Given the description of an element on the screen output the (x, y) to click on. 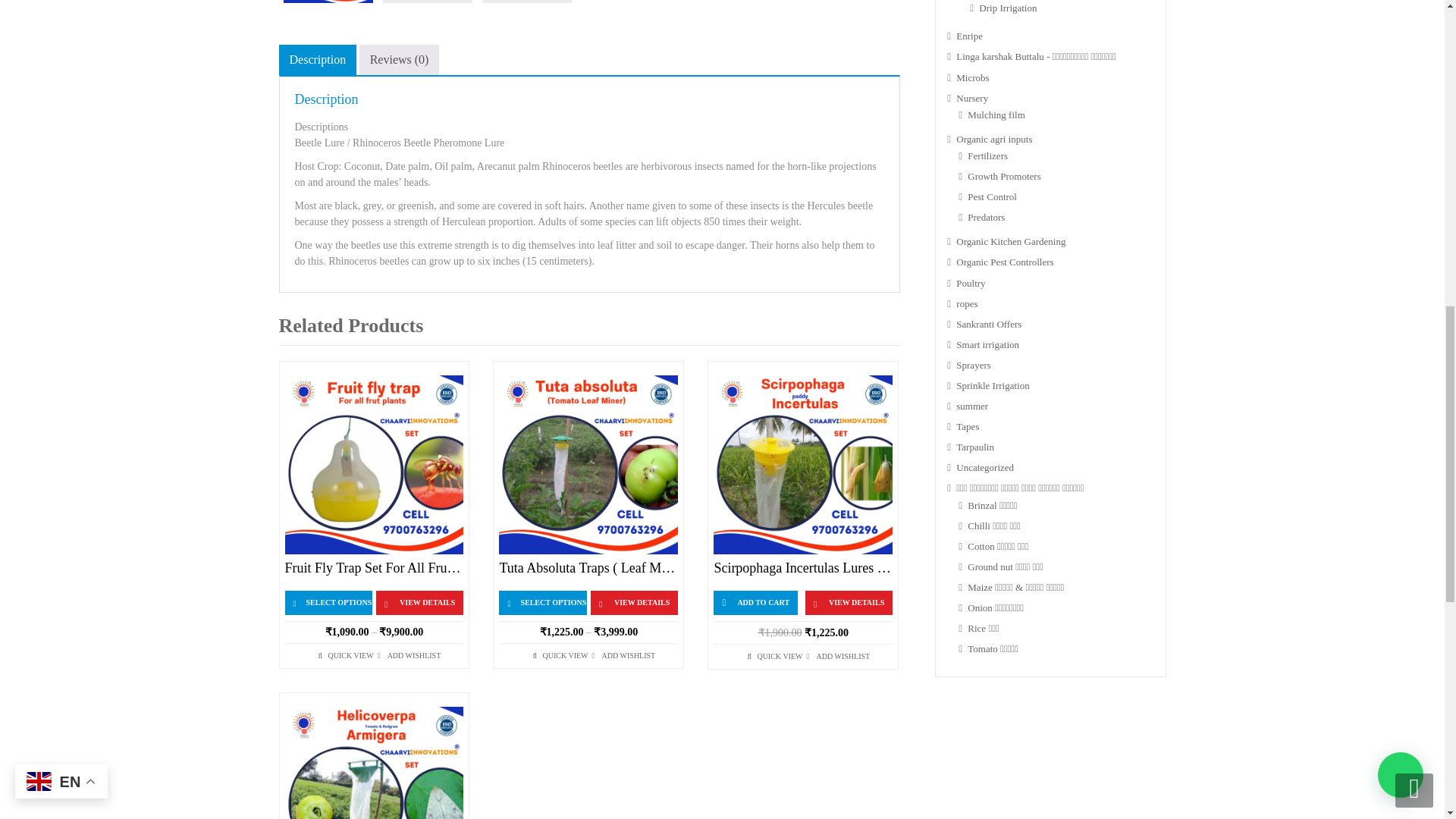
photo1695711144 (526, 1)
photo1695711082 (426, 1)
Add to Wishlist (414, 655)
photo1695716667 (327, 1)
